Given the description of an element on the screen output the (x, y) to click on. 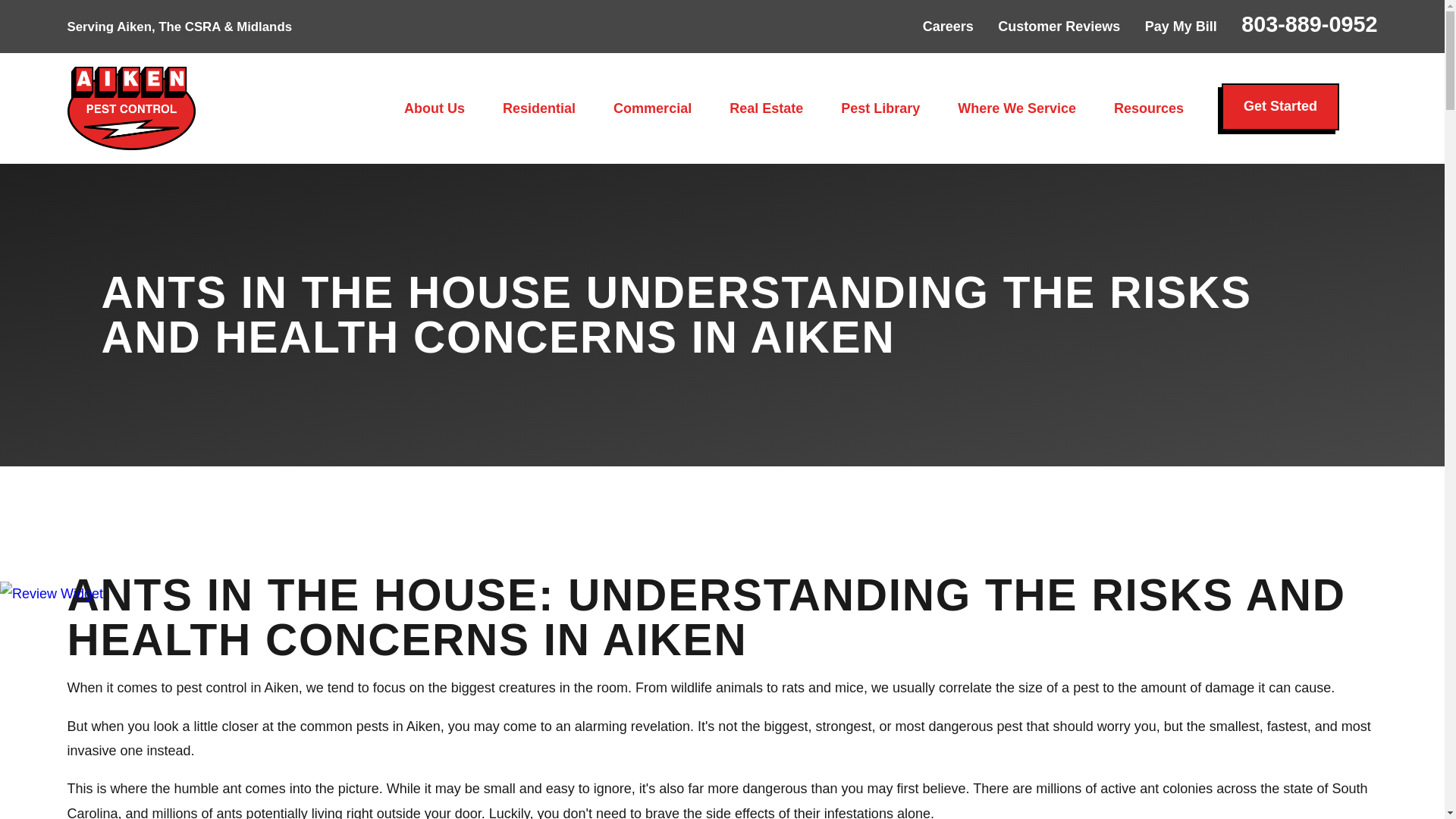
Home (130, 107)
Google Review Widget (51, 593)
Customer Reviews (1058, 26)
Residential (538, 108)
803-889-0952 (1309, 24)
Pest Library (880, 108)
About Us (434, 108)
Pay My Bill (1180, 26)
Commercial (651, 108)
Real Estate (766, 108)
Careers (948, 26)
